Given the description of an element on the screen output the (x, y) to click on. 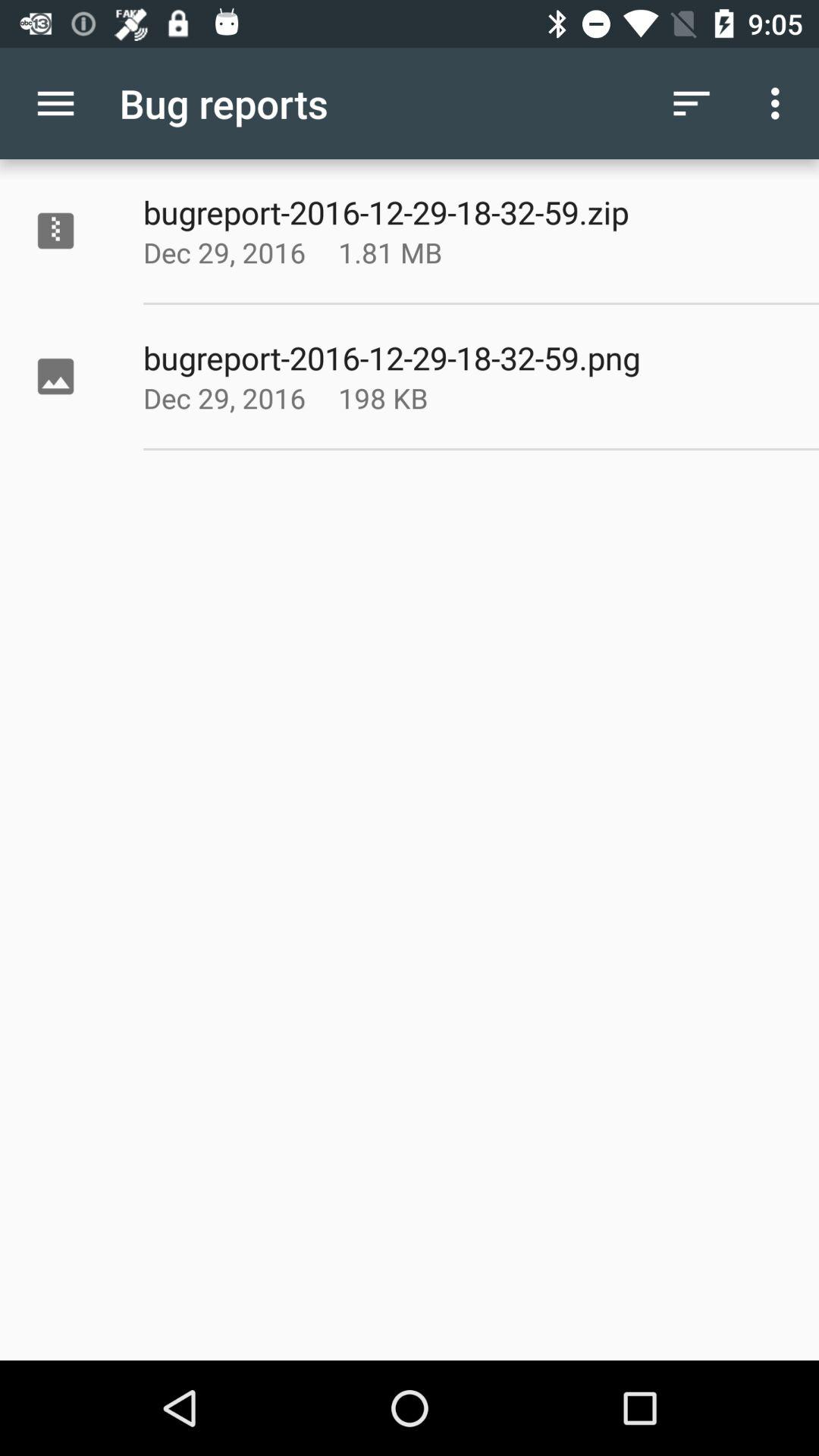
jump to 1.81 mb item (427, 252)
